Given the description of an element on the screen output the (x, y) to click on. 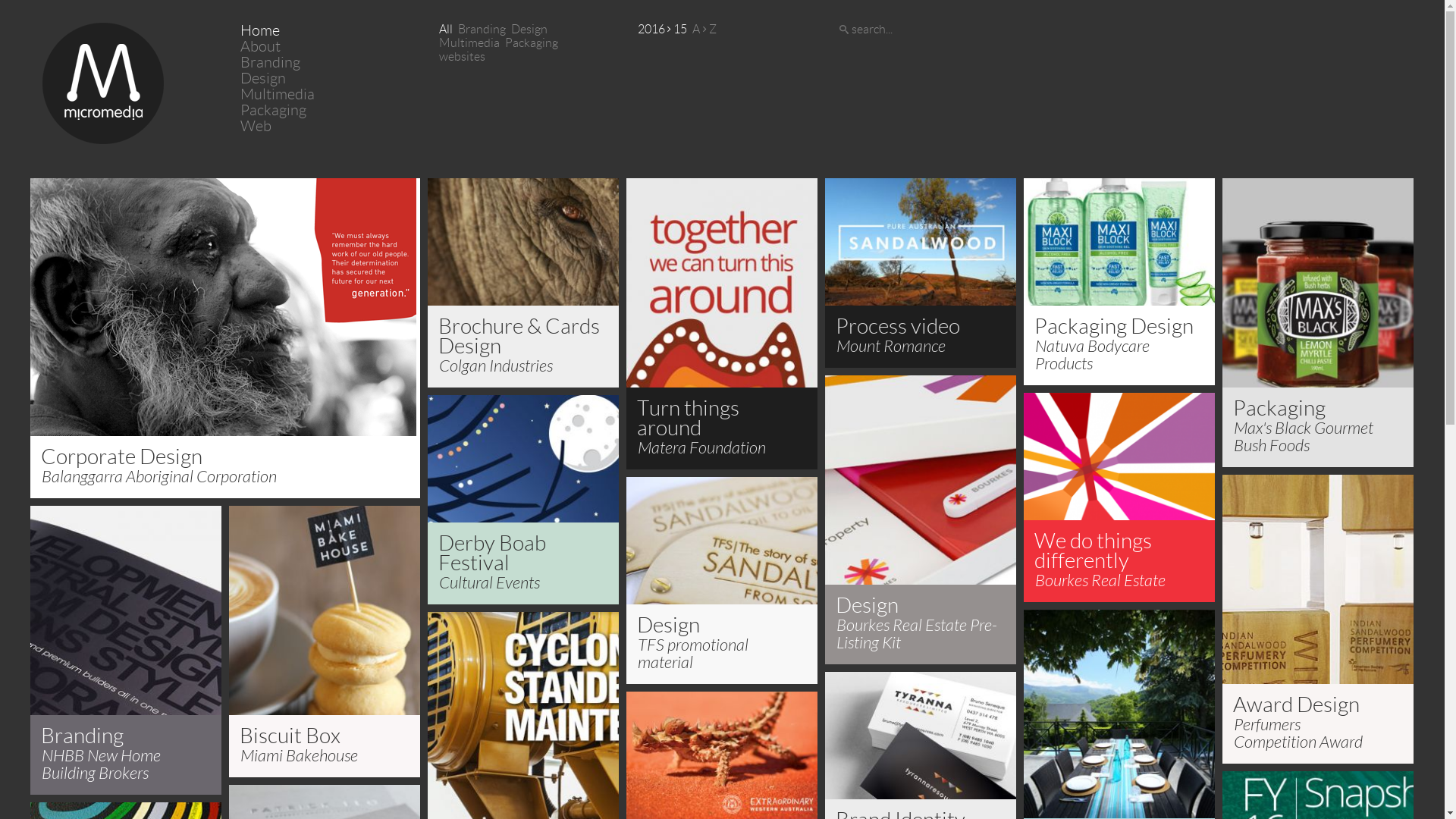
Design Element type: text (262, 77)
AZ Element type: text (703, 28)
Branding Element type: text (481, 28)
We do things differently
Bourkes Real Estate Element type: text (1118, 497)
Biscuit Box
Miami Bakehouse Element type: text (324, 641)
Web Element type: text (255, 125)
Multimedia Element type: text (277, 93)
Home Element type: text (259, 29)
Design Element type: text (529, 28)
Corporate Design
Balanggarra Aboriginal Corporation Element type: text (225, 338)
Packaging
Max's Black Gourmet Bush Foods Element type: text (1317, 322)
Packaging Element type: text (531, 42)
Derby Boab Festival
Cultural Events Element type: text (522, 499)
Process video
Mount Romance Element type: text (920, 272)
Design
Bourkes Real Estate Pre-Listing Kit Element type: text (920, 519)
About Element type: text (260, 45)
Packaging Design
Natuva Bodycare Products Element type: text (1118, 281)
Award Design
Perfumers
Competition Award Element type: text (1317, 618)
Design
TFS promotional material Element type: text (721, 580)
Brochure & Cards Design
Colgan Industries Element type: text (522, 282)
Packaging Element type: text (273, 109)
Branding
NHBB New Home Building Brokers Element type: text (125, 649)
Multimedia Element type: text (469, 42)
Turn things around
Matera Foundation Element type: text (721, 323)
Branding Element type: text (270, 61)
All Element type: text (445, 28)
websites Element type: text (462, 56)
201615 Element type: text (662, 28)
